Given the description of an element on the screen output the (x, y) to click on. 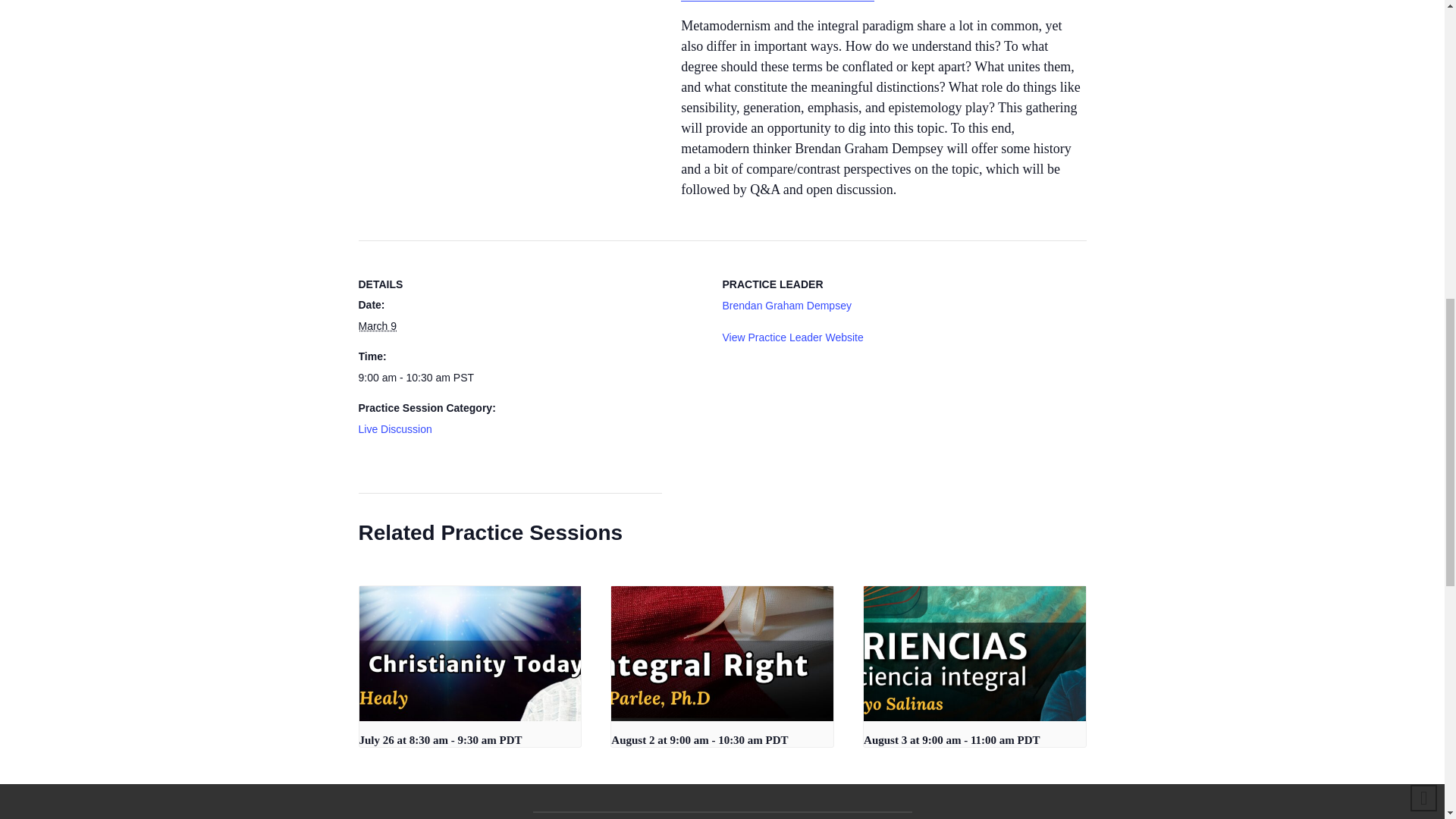
2024-03-09 (377, 326)
2024-03-09 (530, 377)
Brendan Graham Dempsey (786, 305)
